Given the description of an element on the screen output the (x, y) to click on. 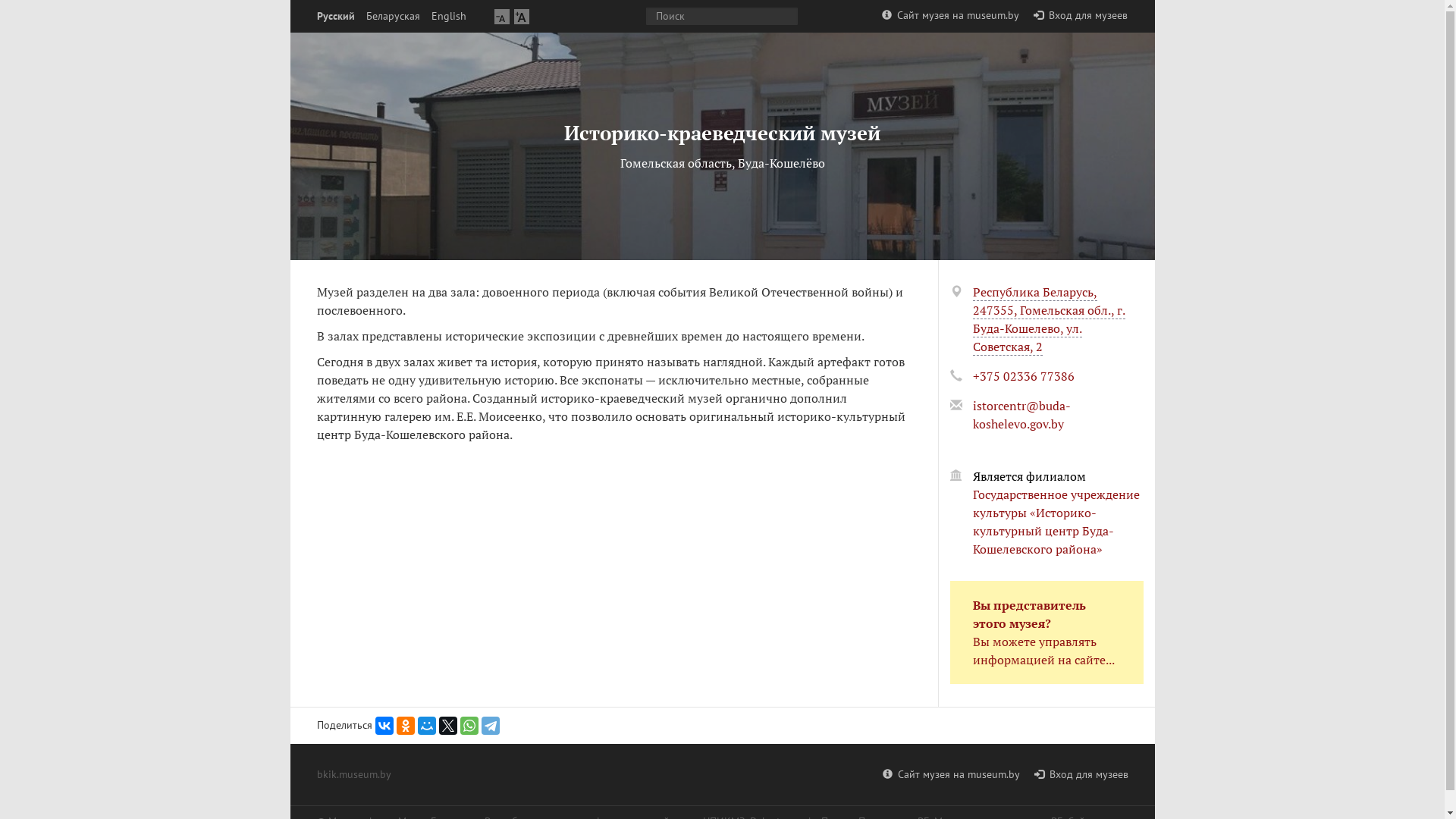
istorcentr@buda-koshelevo.gov.by Element type: text (1021, 414)
WhatsApp Element type: hover (468, 725)
A Element type: text (501, 16)
+375 02336 77386 Element type: text (1022, 376)
A Element type: text (521, 16)
Telegram Element type: hover (489, 725)
Twitter Element type: hover (447, 725)
English Element type: text (447, 16)
